Given the description of an element on the screen output the (x, y) to click on. 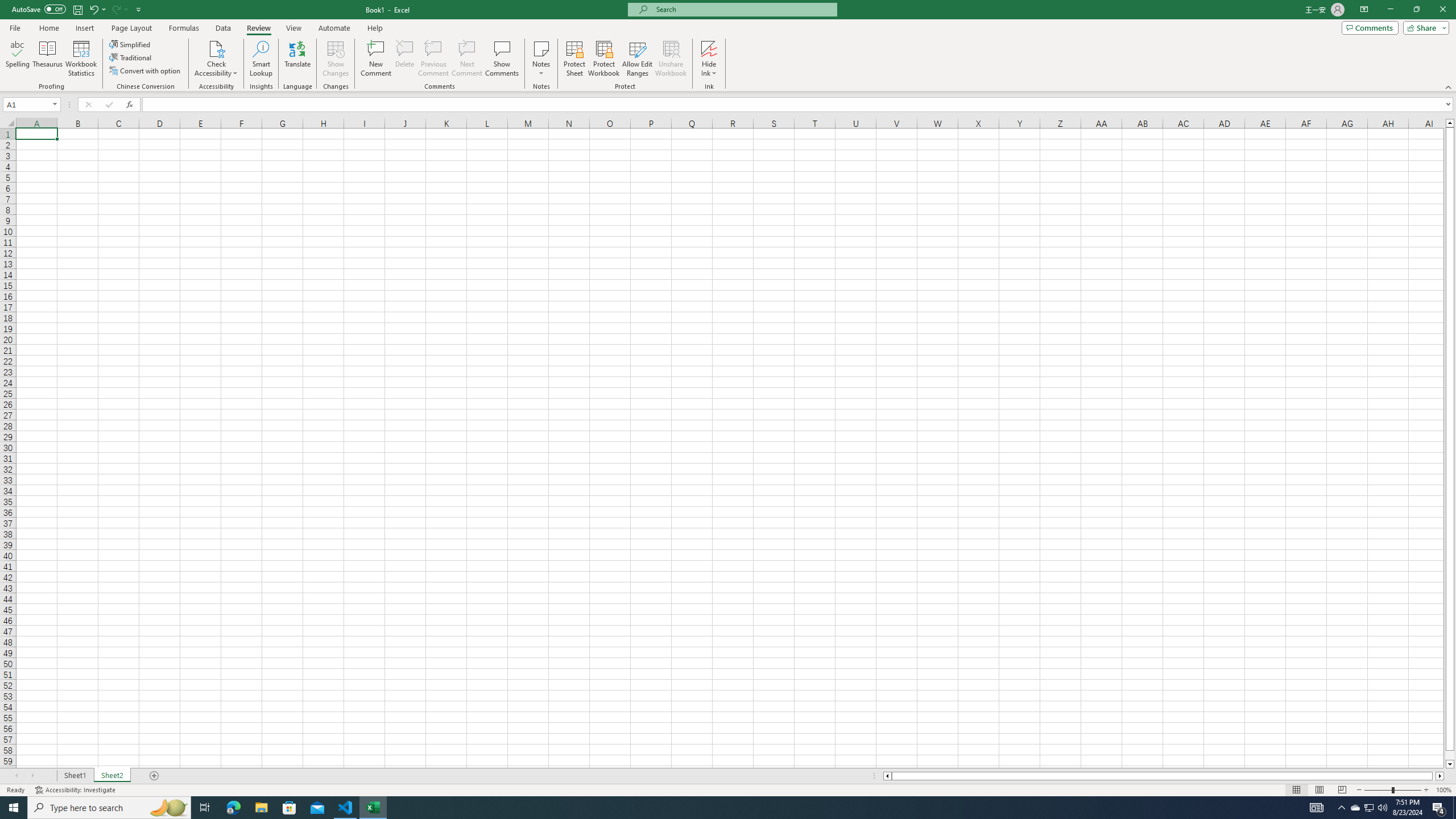
Notes (541, 58)
Class: MsoCommandBar (728, 45)
Automate (334, 28)
Hide Ink (708, 48)
Convert with option (145, 69)
Show Changes (335, 58)
Previous Comment (432, 58)
